Given the description of an element on the screen output the (x, y) to click on. 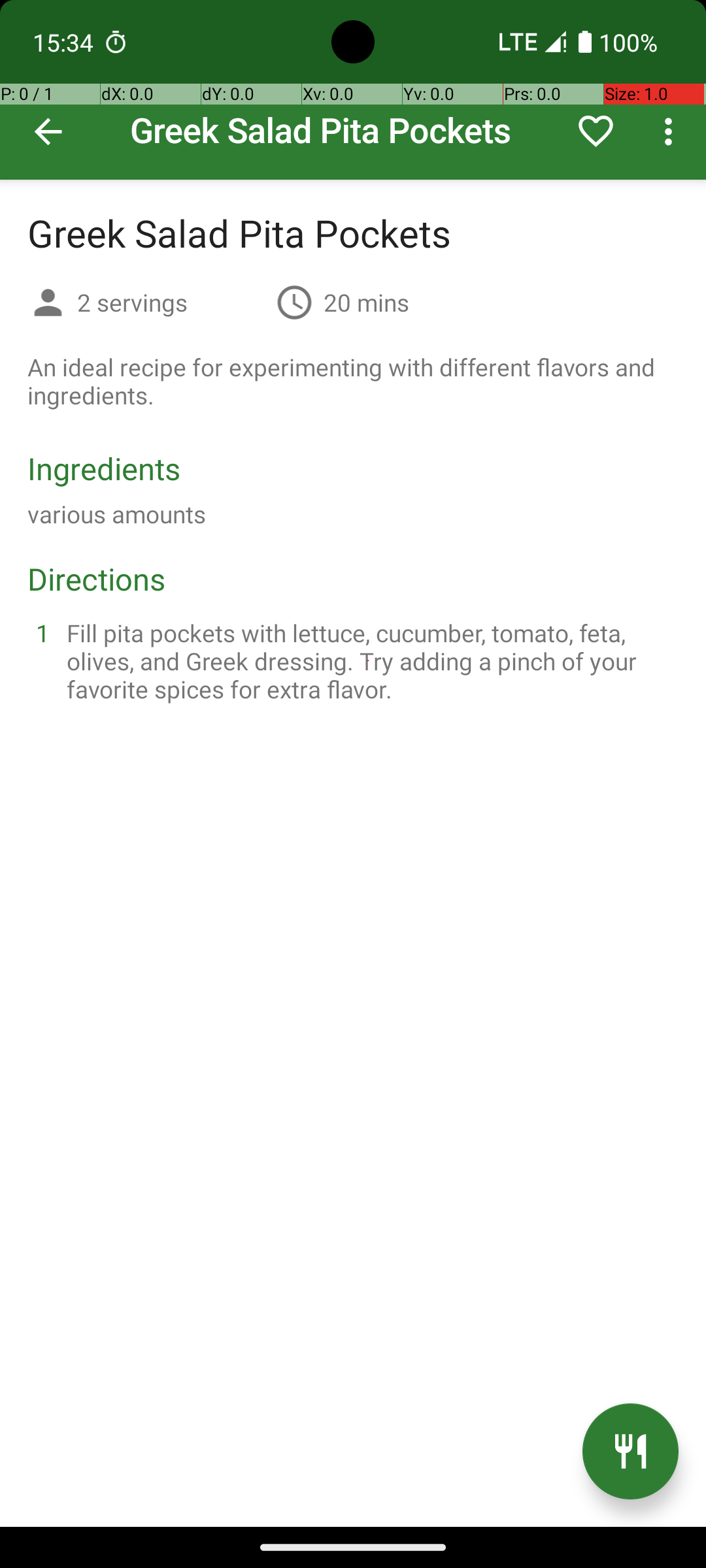
Fill pita pockets with lettuce, cucumber, tomato, feta, olives, and Greek dressing. Try adding a pinch of your favorite spices for extra flavor. Element type: android.widget.TextView (368, 660)
